Given the description of an element on the screen output the (x, y) to click on. 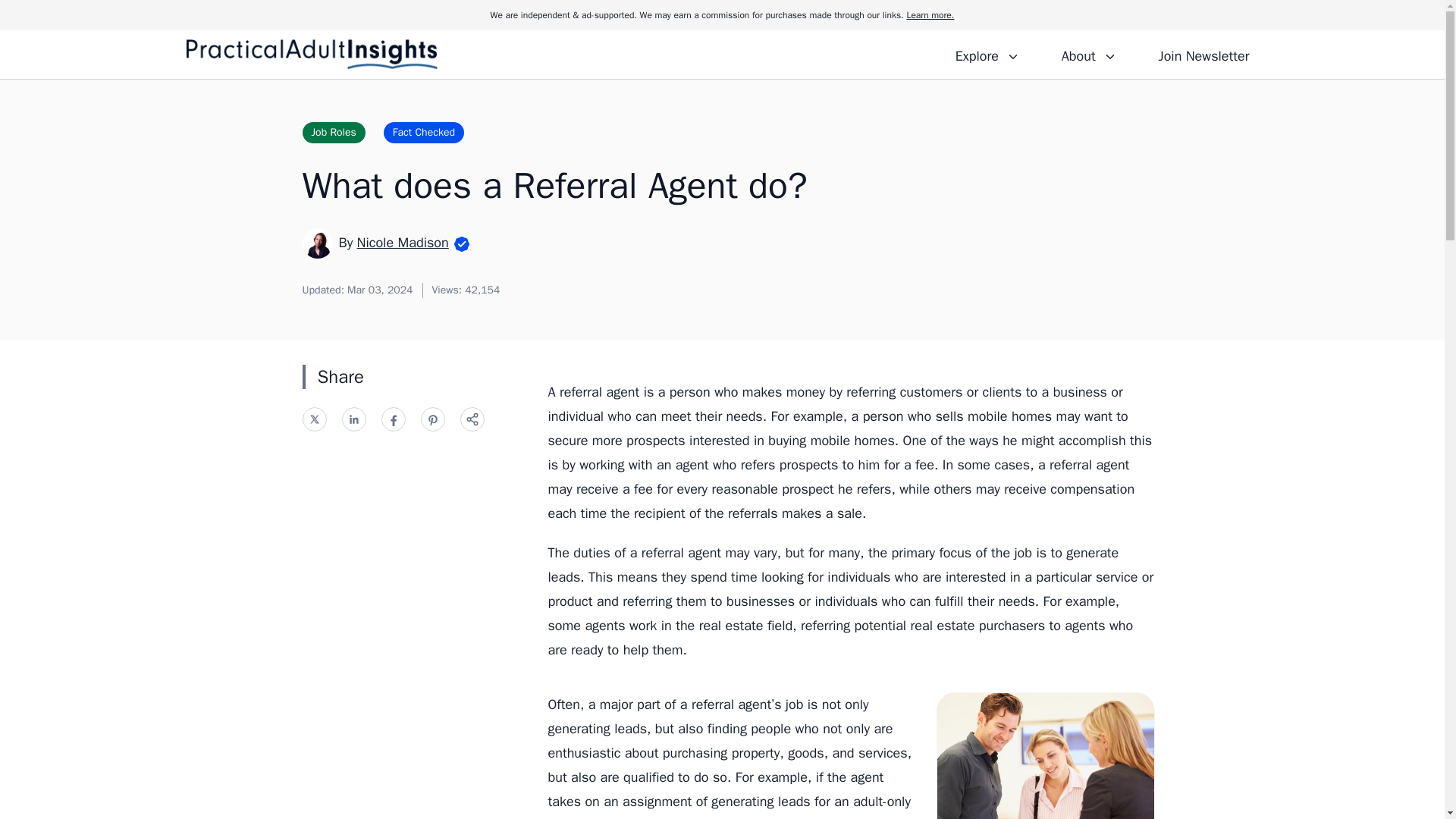
About (1088, 54)
Explore (986, 54)
Fact Checked (424, 132)
Job Roles (333, 132)
Join Newsletter (1202, 54)
Nicole Madison (402, 242)
Learn more. (929, 15)
